Given the description of an element on the screen output the (x, y) to click on. 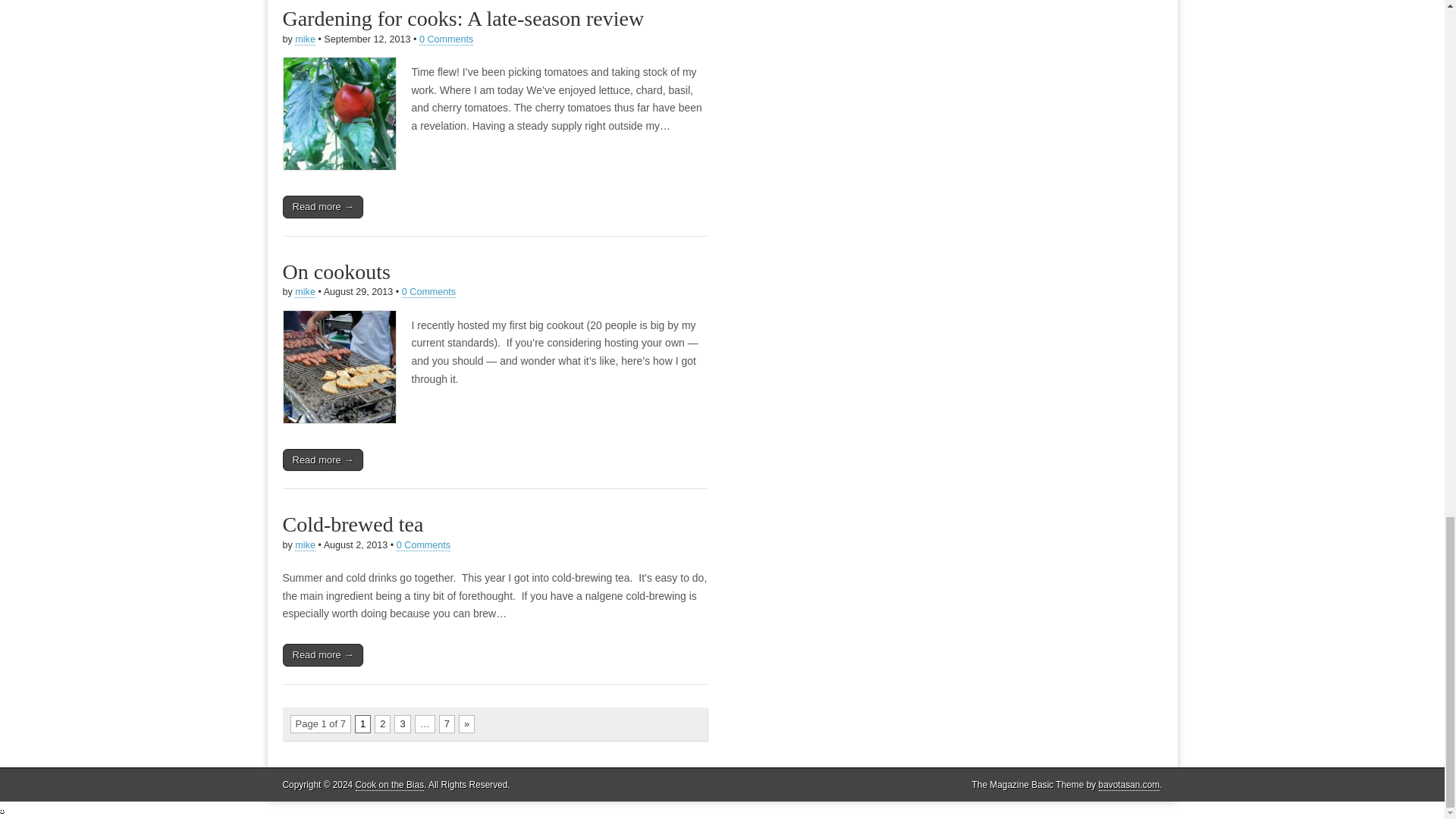
Posts by mike (305, 292)
mike (305, 39)
Posts by mike (305, 545)
Gardening for cooks: A late-season review (462, 18)
0 Comments (446, 39)
Posts by mike (305, 39)
